Given the description of an element on the screen output the (x, y) to click on. 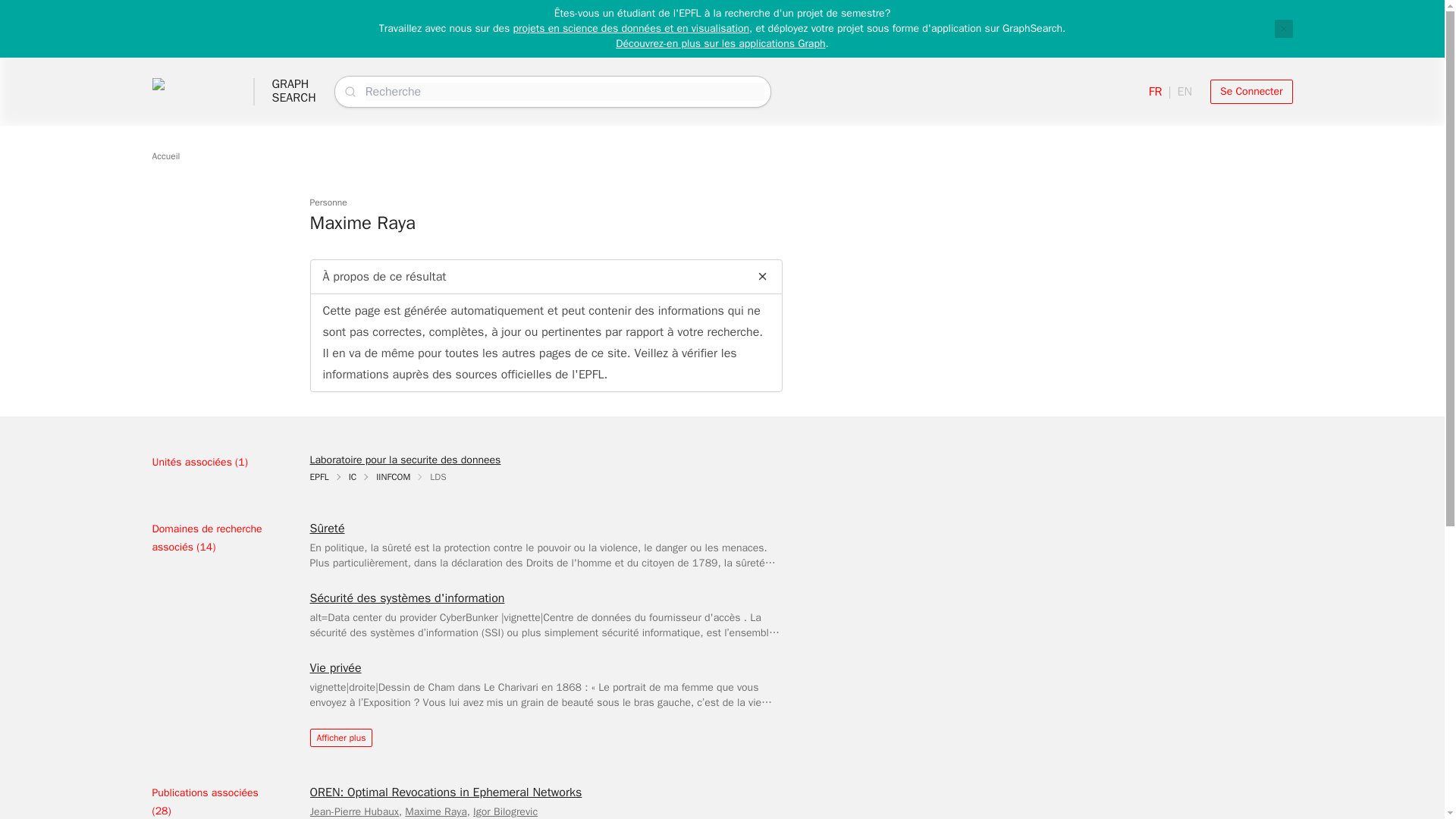
Se Connecter (1250, 91)
Laboratoire pour la securite des donnees (404, 459)
Afficher plus (340, 737)
OREN: Optimal Revocations in Ephemeral Networks (444, 792)
Accueil (165, 155)
Igor Bilogrevic (505, 811)
Maxime Raya (434, 811)
IINFCOM (392, 476)
EPFL (318, 476)
Jean-Pierre Hubaux (352, 811)
